Given the description of an element on the screen output the (x, y) to click on. 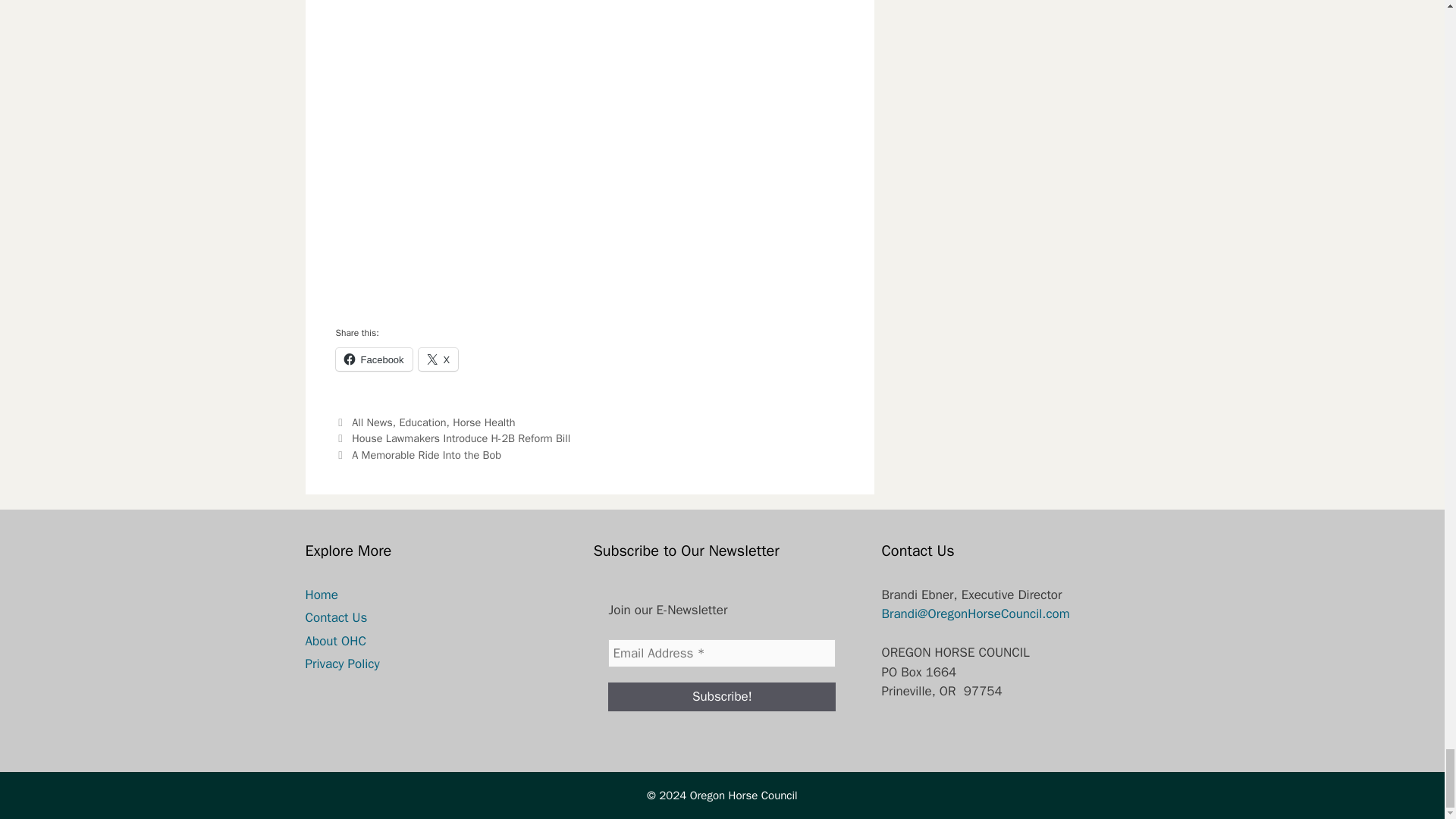
Email Address (721, 653)
Click to share on X (438, 359)
Subscribe! (721, 696)
Click to share on Facebook (373, 359)
